Given the description of an element on the screen output the (x, y) to click on. 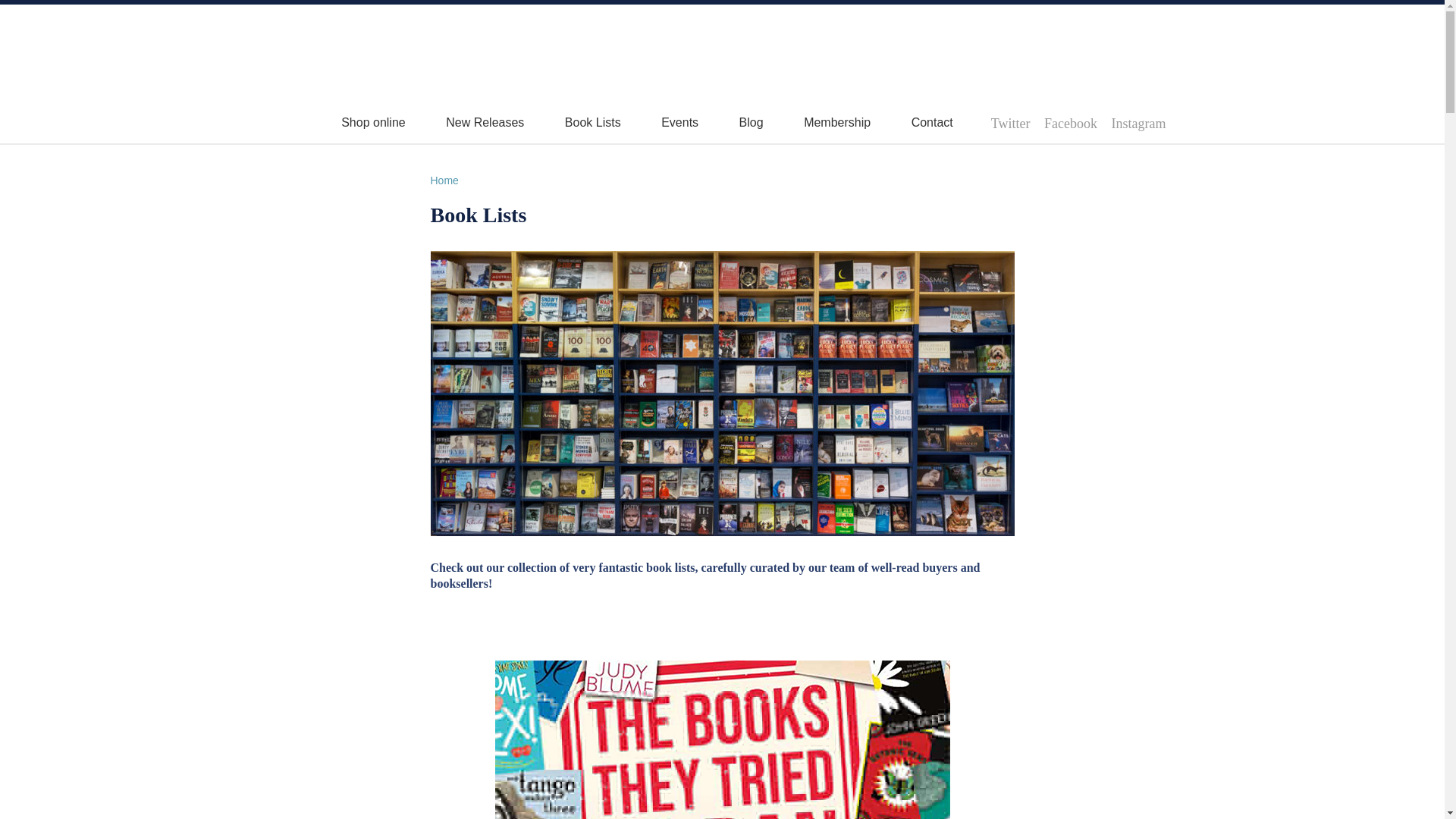
Home (444, 180)
Facebook (1070, 123)
Events (679, 122)
Shop online (373, 122)
Blog (750, 122)
Kinokuniya (342, 42)
Twitter (1010, 123)
New Releases (484, 122)
Book Lists (592, 122)
Membership (836, 122)
Contact (932, 122)
Instagram (1139, 123)
